Given the description of an element on the screen output the (x, y) to click on. 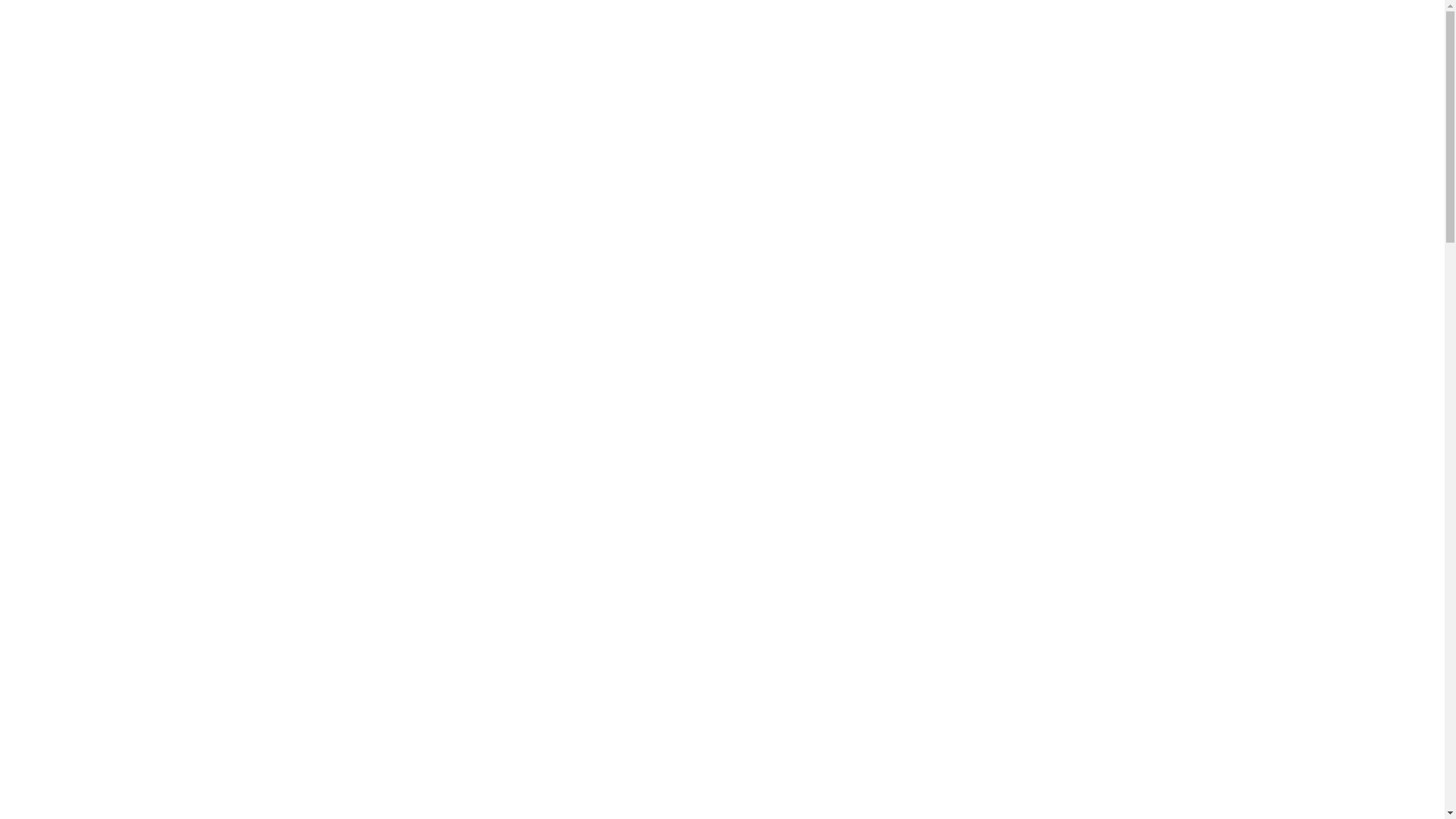
PDF File Viewer Element type: hover (724, 372)
